Given the description of an element on the screen output the (x, y) to click on. 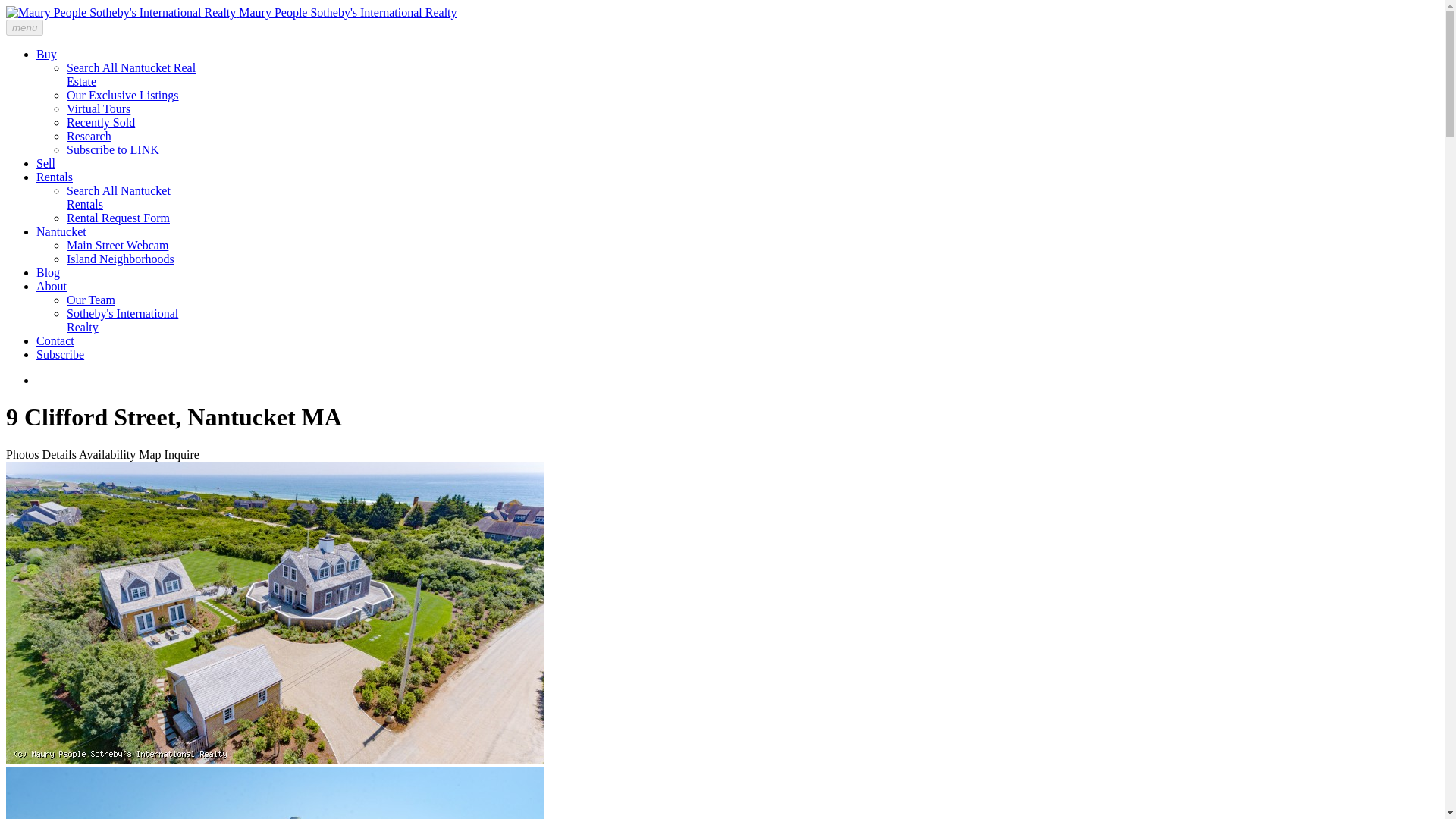
Map (149, 454)
Maury People Sotheby's International Realty (231, 11)
Contact (55, 340)
Island Neighborhoods (120, 258)
Inquire (181, 454)
Our Team (90, 299)
Blog (47, 272)
menu (24, 27)
Details (59, 454)
Search All Nantucket Real Estate (130, 74)
Sell (45, 163)
Our Exclusive Listings (122, 94)
Buy (46, 53)
Availability (106, 454)
Main Street Webcam (117, 245)
